Given the description of an element on the screen output the (x, y) to click on. 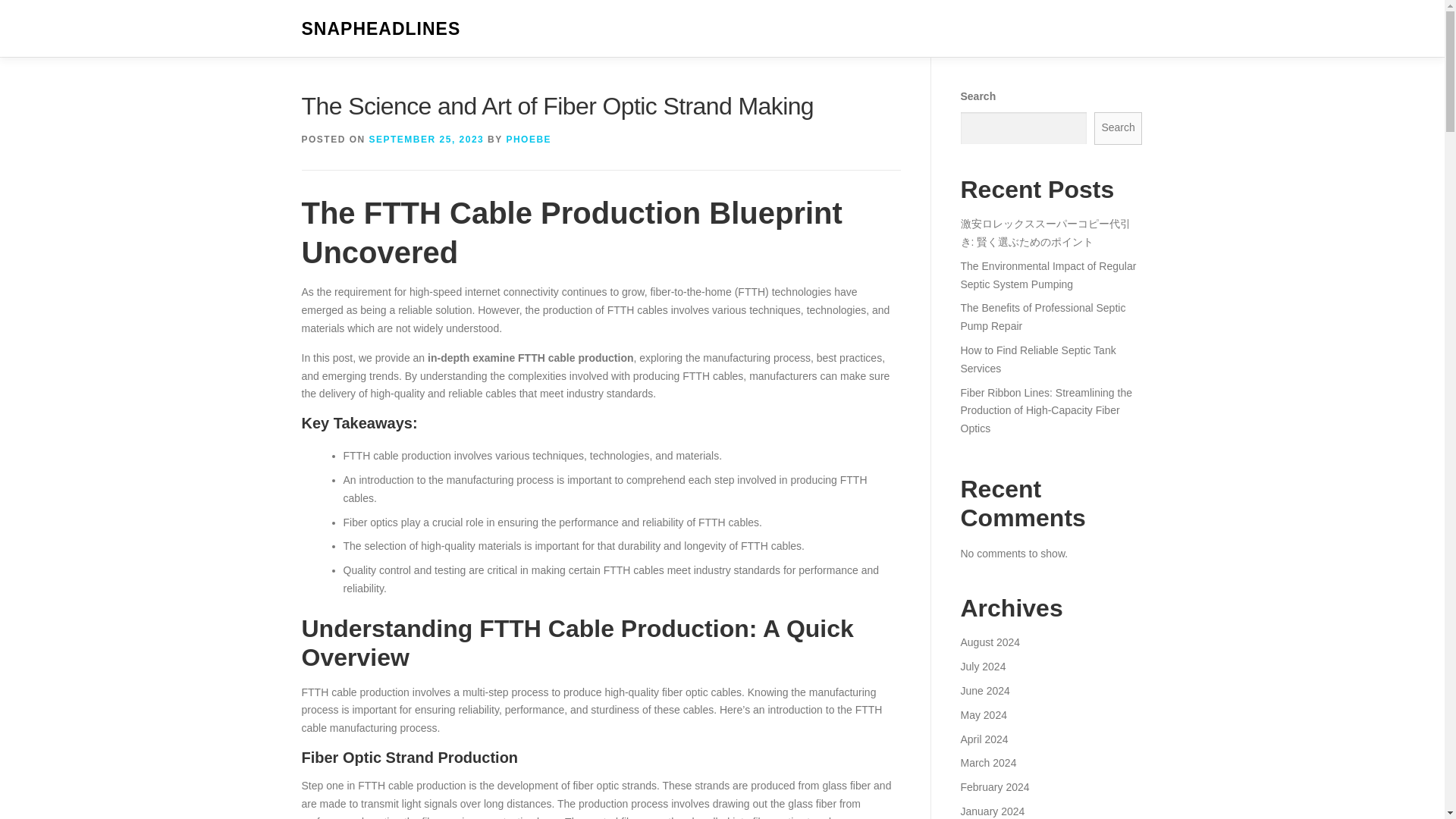
June 2024 (984, 690)
The Benefits of Professional Septic Pump Repair (1042, 317)
January 2024 (992, 811)
April 2024 (983, 738)
July 2024 (982, 666)
SEPTEMBER 25, 2023 (426, 139)
How to Find Reliable Septic Tank Services (1037, 358)
SNAPHEADLINES (381, 29)
The Environmental Impact of Regular Septic System Pumping (1047, 275)
